Given the description of an element on the screen output the (x, y) to click on. 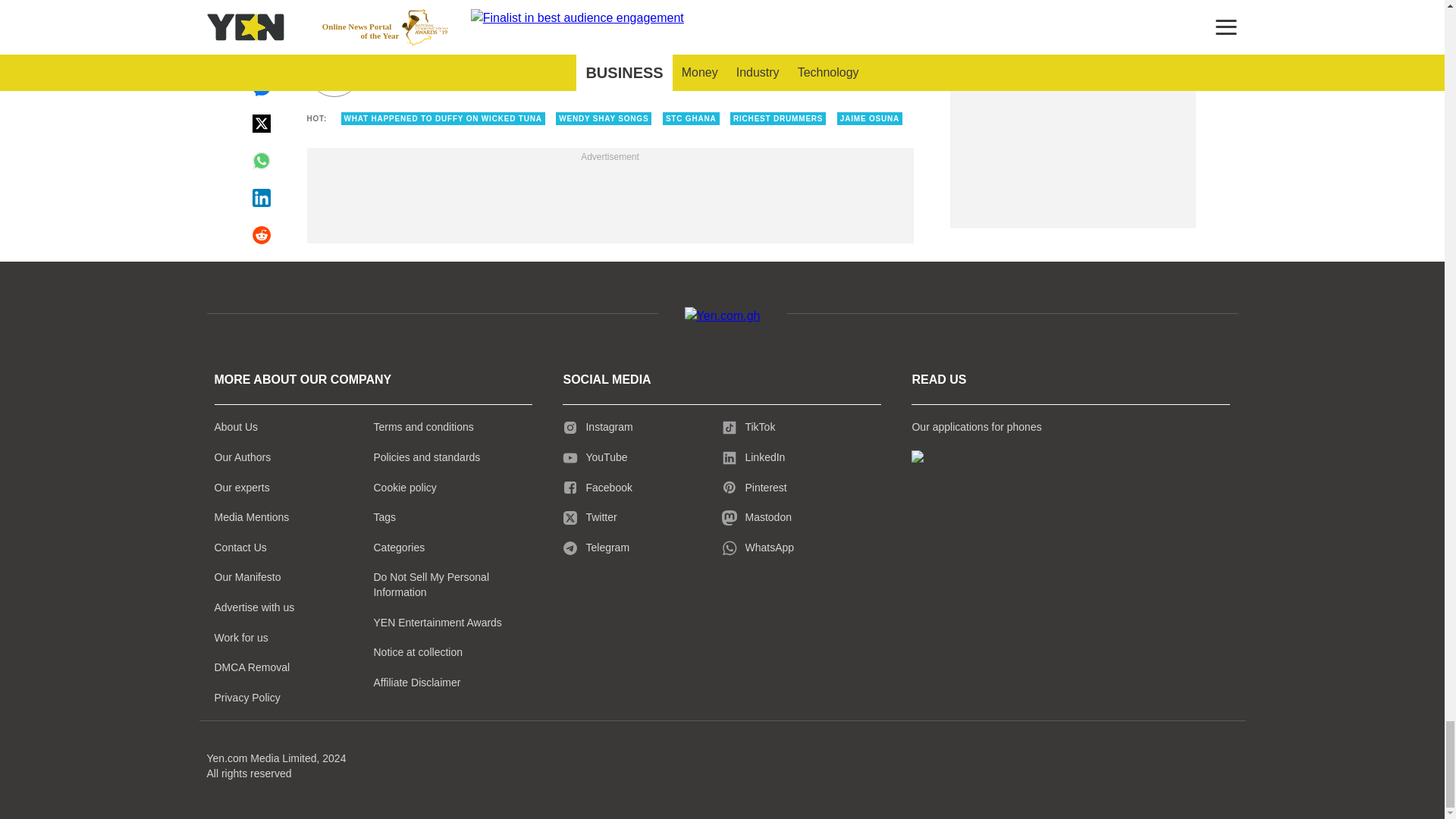
Author page (533, 69)
